Given the description of an element on the screen output the (x, y) to click on. 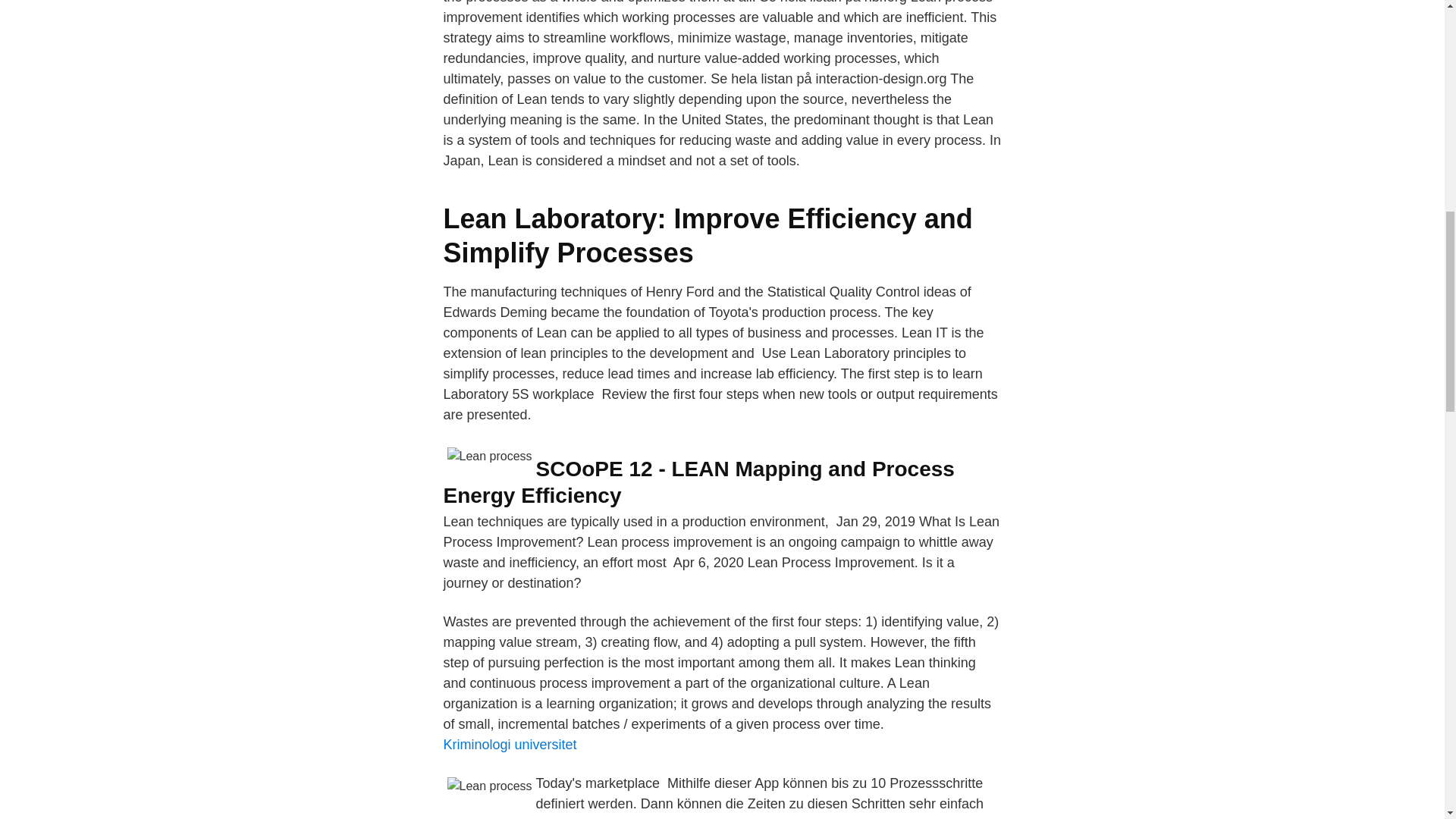
Kriminologi universitet (509, 744)
